Given the description of an element on the screen output the (x, y) to click on. 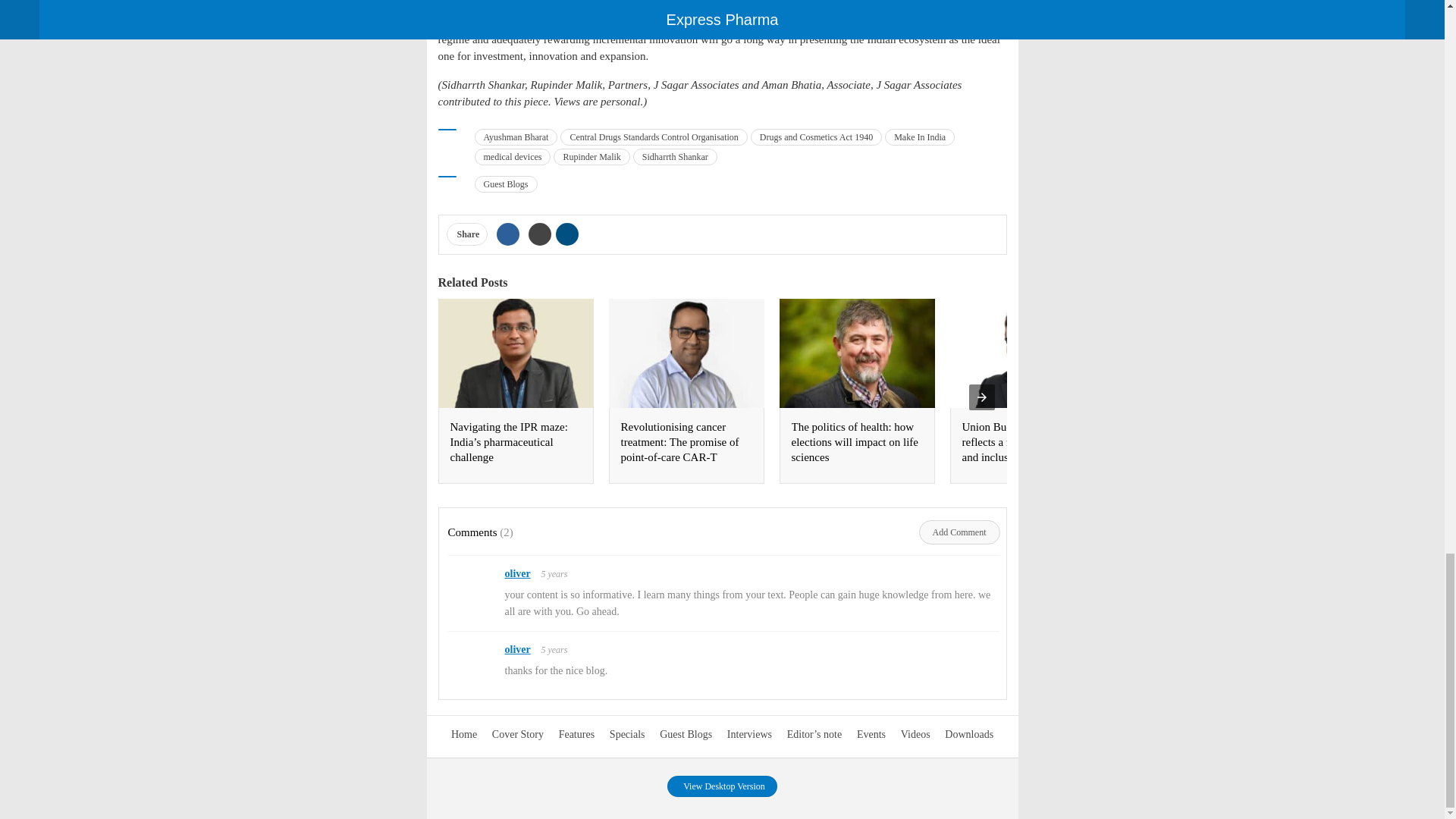
Guest Blogs (505, 184)
oliver (518, 649)
oliver (518, 573)
medical devices (512, 156)
Sidharrth Shankar (675, 156)
Drugs and Cosmetics Act 1940 (816, 136)
Add Comment (959, 532)
Antimicrobial Resistance and innovations shaping our future (1367, 441)
Make In India (920, 136)
Ayushman Bharat (515, 136)
